Given the description of an element on the screen output the (x, y) to click on. 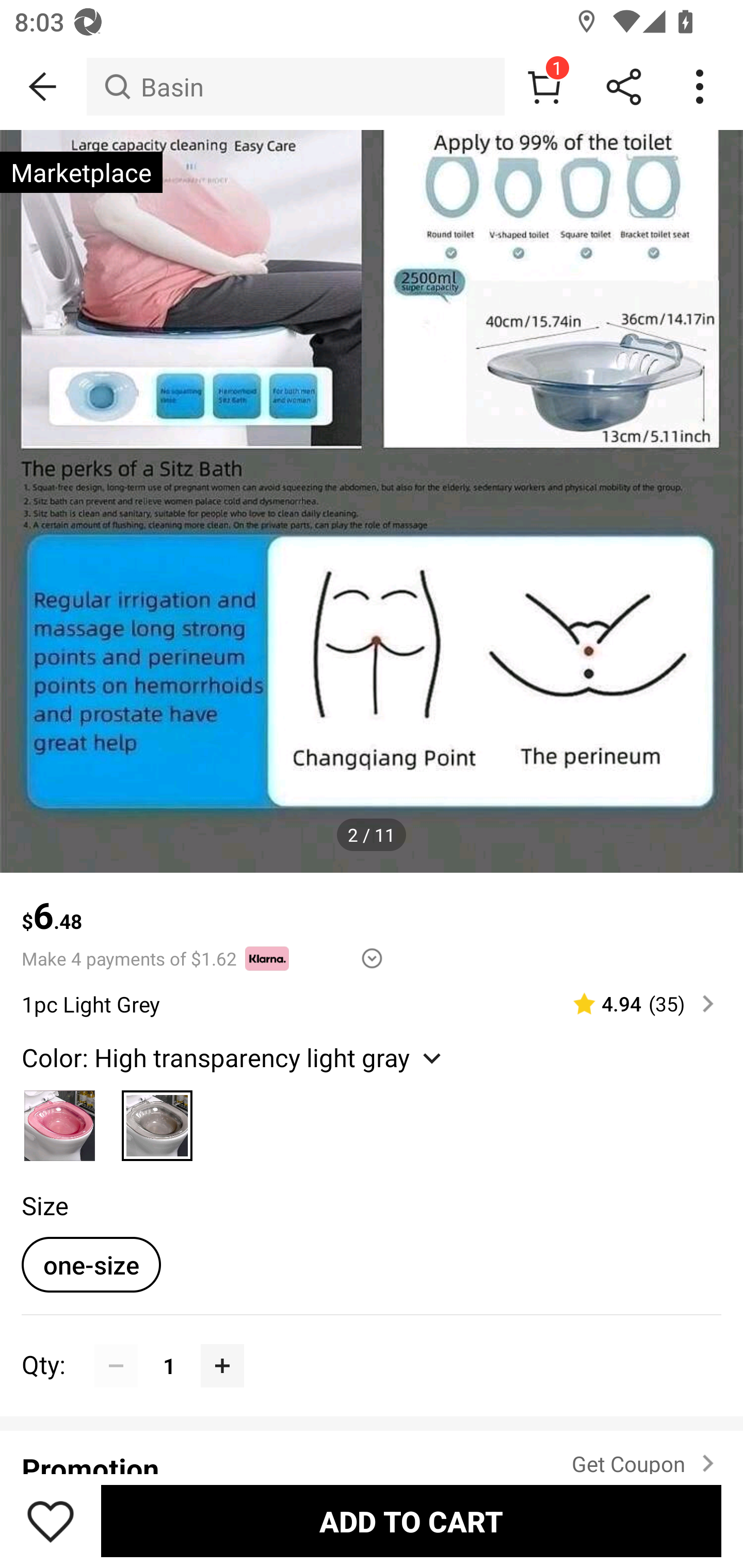
BACK (43, 86)
1 (543, 87)
Basin (295, 87)
PHOTOS Marketplace 2 / 11 (371, 501)
2 / 11 (371, 834)
$6.48 Make 4 payments of $1.62 (371, 921)
4.94 (35) (635, 1003)
Color: High transparency light gray (233, 1056)
High translucent light pink (59, 1120)
High transparency light gray (156, 1120)
Size (44, 1205)
one-size one-sizeselected option (91, 1264)
Qty: 1 (371, 1343)
Promotion Get Coupon (371, 1451)
ADD TO CART (411, 1520)
Save (50, 1520)
